Given the description of an element on the screen output the (x, y) to click on. 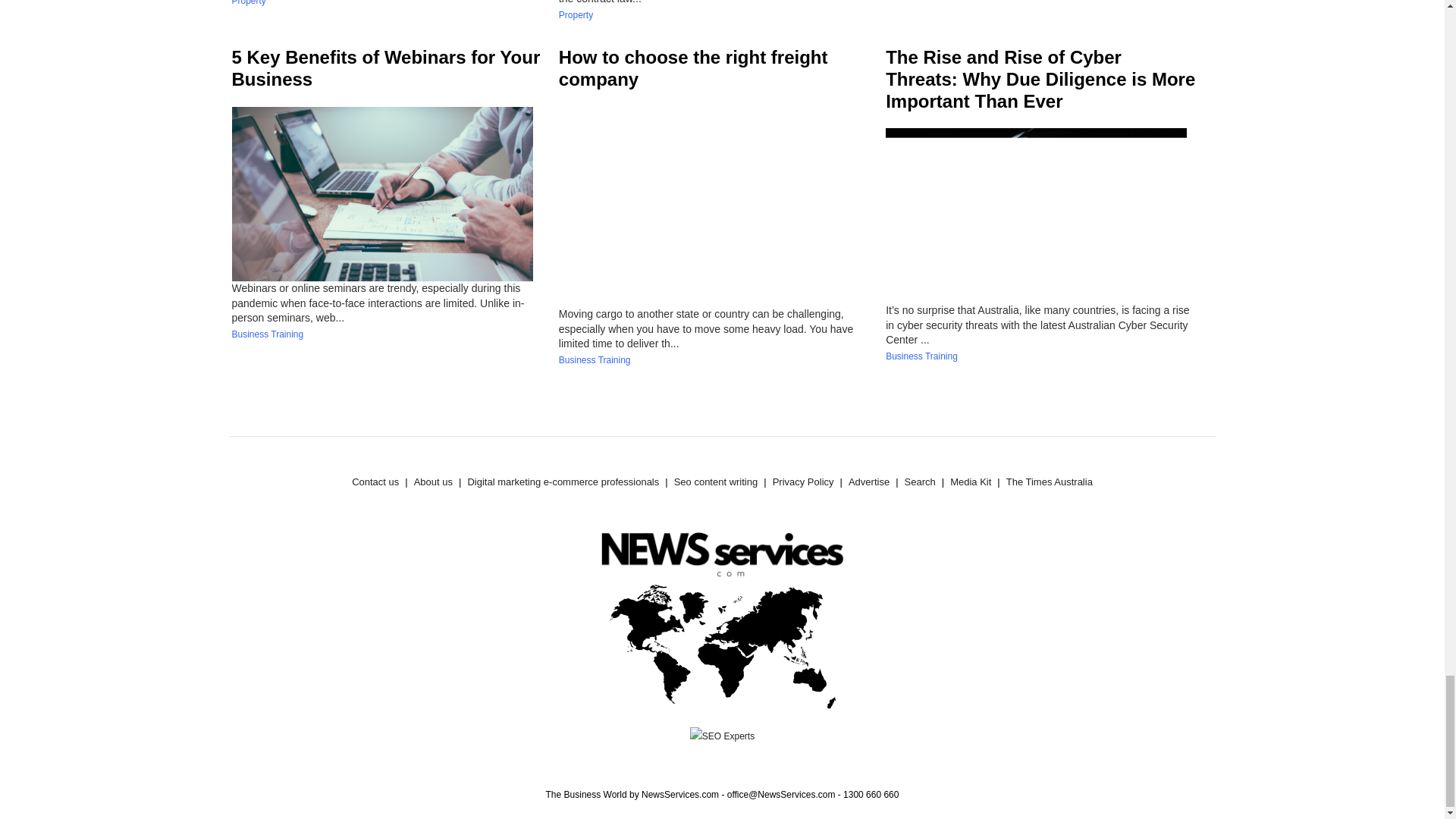
How to choose the right freight company (693, 67)
5 Key Benefits of Webinars for Your Business (385, 67)
